Given the description of an element on the screen output the (x, y) to click on. 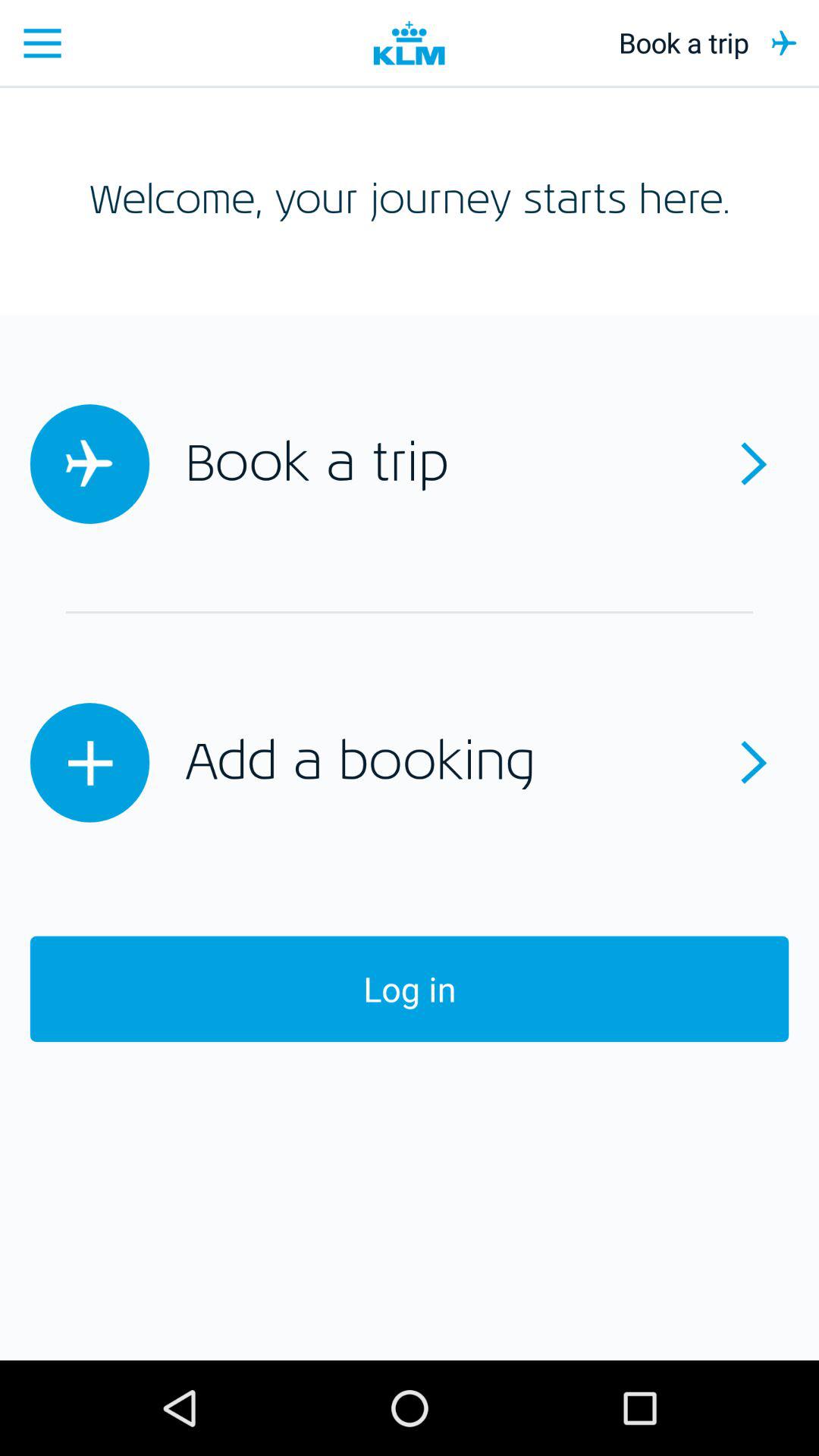
turn off log in icon (409, 988)
